Given the description of an element on the screen output the (x, y) to click on. 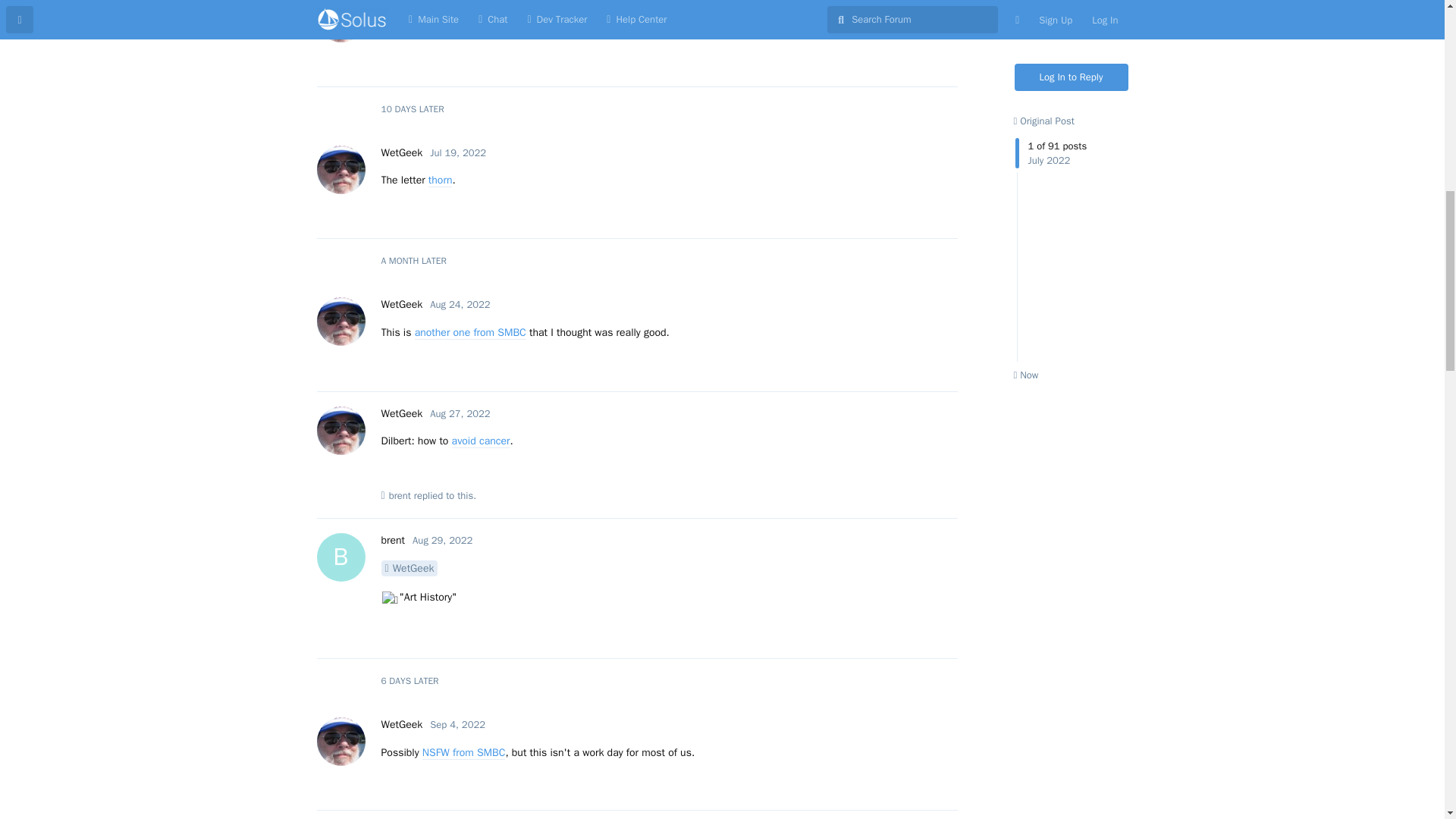
Wednesday, August 24, 2022 4:54 AM (459, 304)
His boss didn't (657, 29)
Monday, August 29, 2022 4:01 AM (441, 540)
Jul 9, 2022 (454, 3)
Tuesday, July 19, 2022 7:53 PM (457, 152)
Saturday, August 27, 2022 10:31 PM (459, 413)
WetGeek (401, 3)
Sunday, September 4, 2022 3:40 AM (456, 724)
Saturday, July 9, 2022 10:35 PM (454, 3)
